Given the description of an element on the screen output the (x, y) to click on. 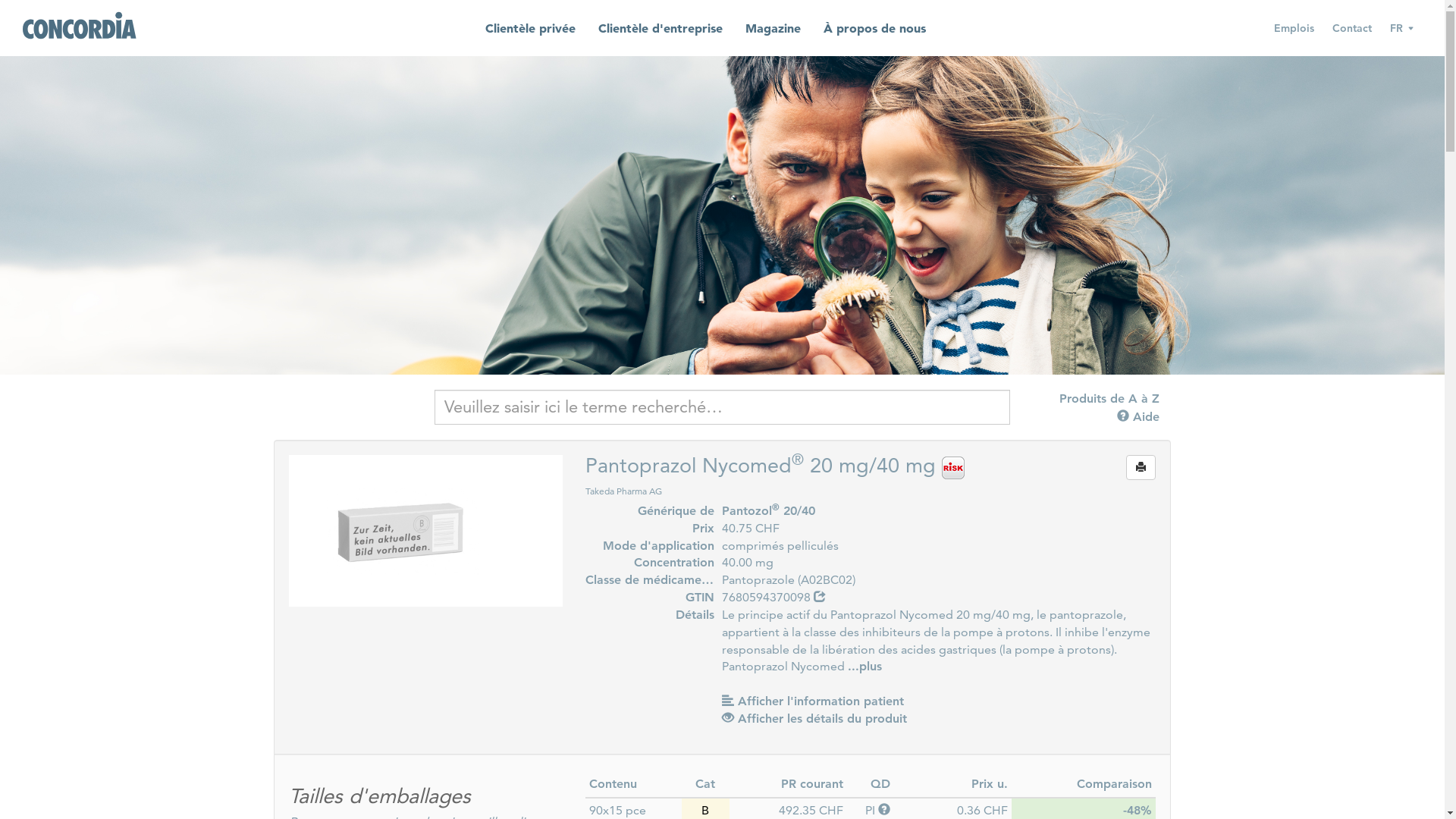
Afficher l'information patient Element type: text (812, 700)
Emplois Element type: text (1294, 27)
Aide Element type: text (1138, 416)
Magazine Element type: text (773, 28)
...plus Element type: text (864, 665)
Contact Element type: text (1351, 27)
